Given the description of an element on the screen output the (x, y) to click on. 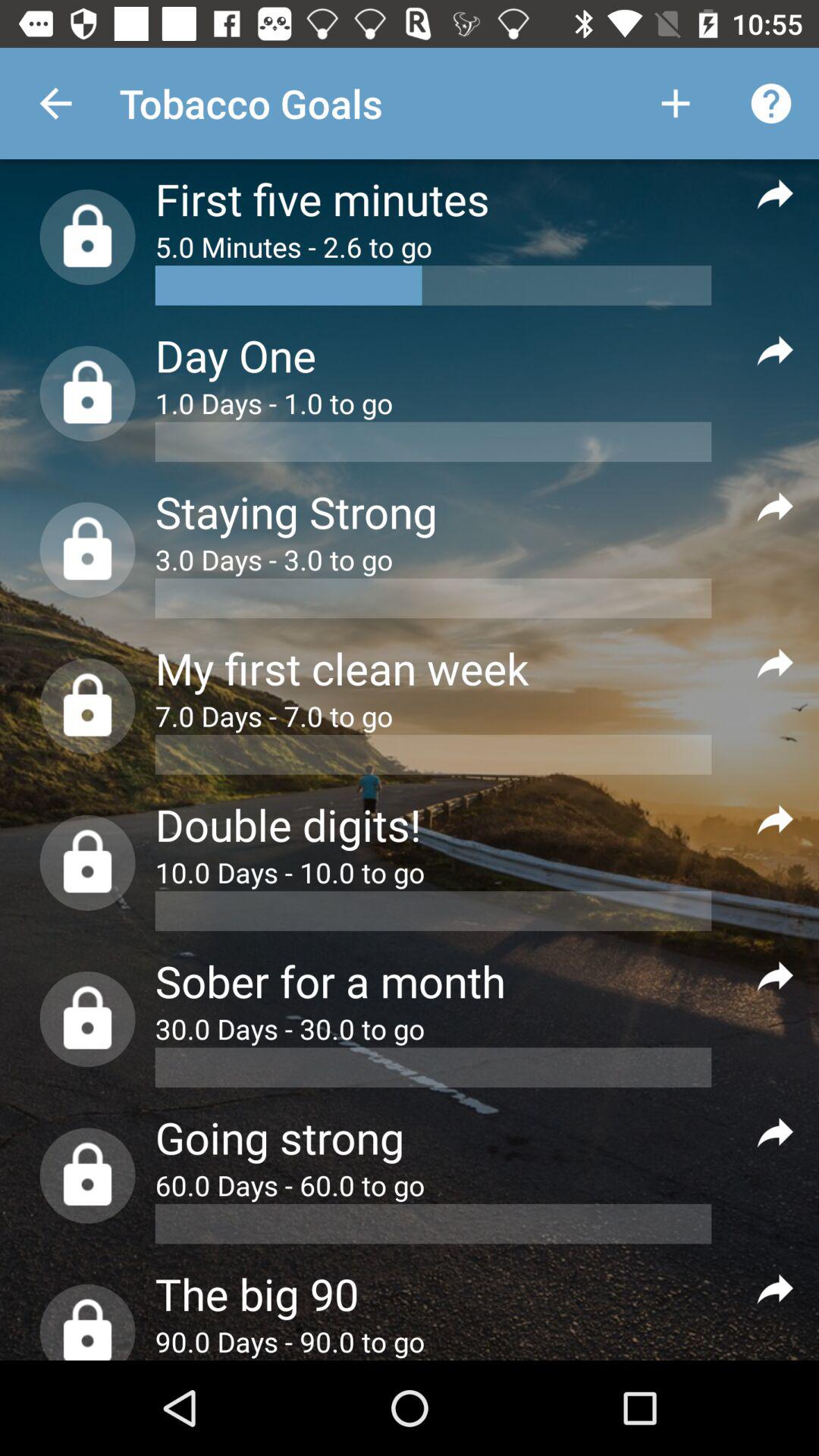
share files (775, 818)
